Given the description of an element on the screen output the (x, y) to click on. 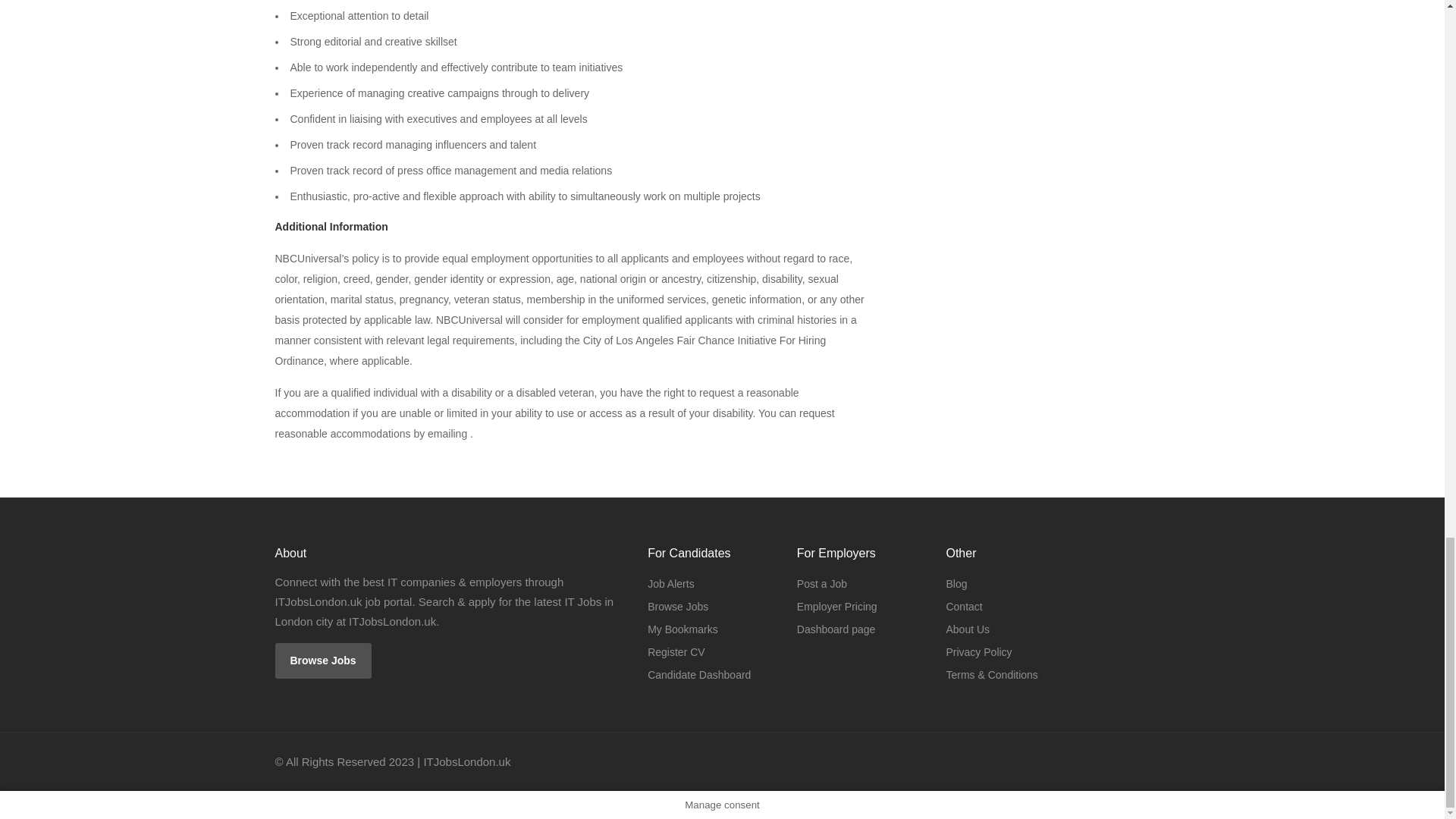
Job Alerts (670, 583)
About Us (967, 629)
Register CV (675, 651)
Contact (962, 606)
Privacy Policy (977, 651)
Candidate Dashboard (699, 674)
Employer Pricing (836, 606)
Post a Job (821, 583)
Browse Jobs (323, 660)
Blog (955, 583)
